Given the description of an element on the screen output the (x, y) to click on. 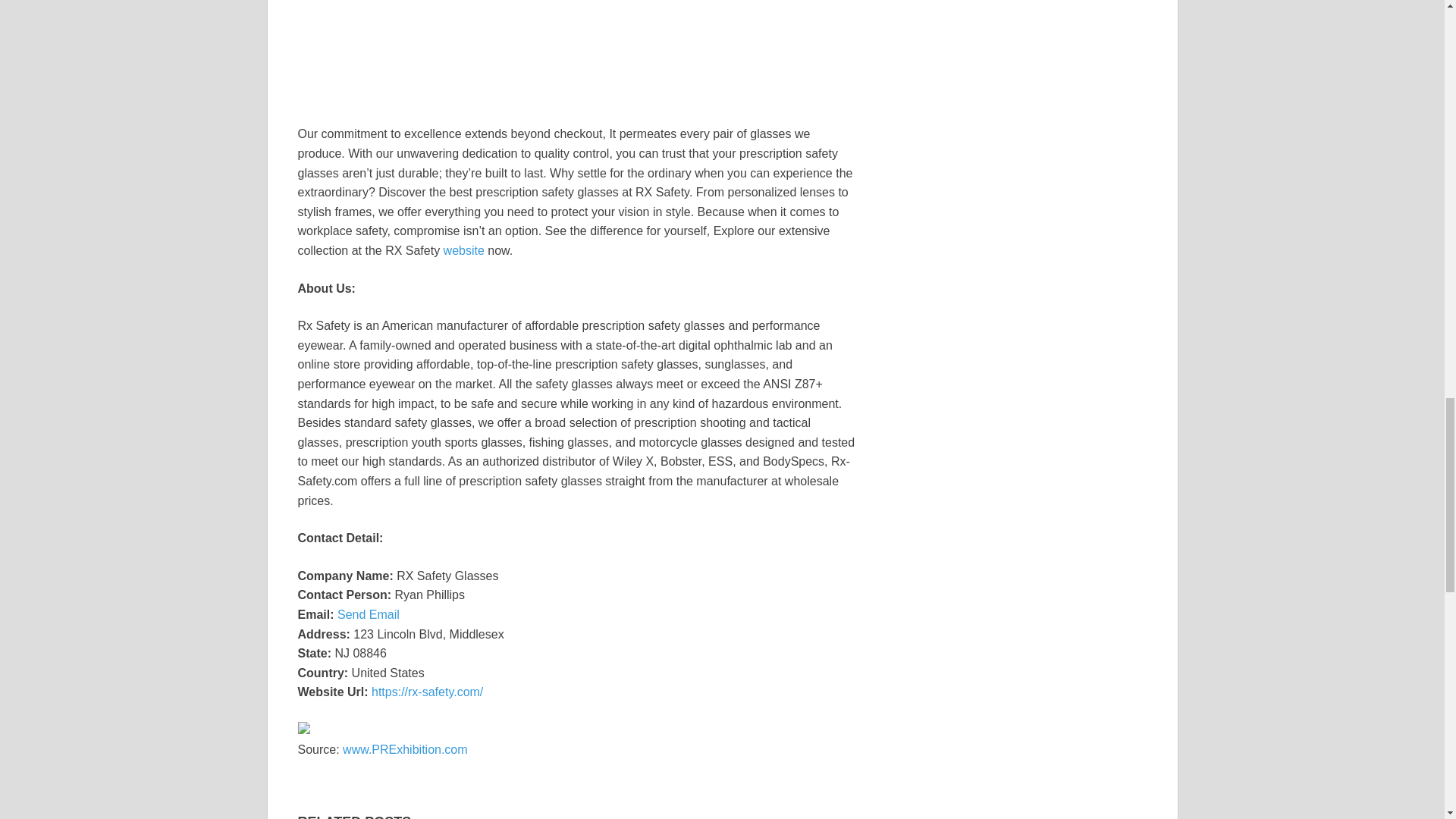
www.PRExhibition.com (404, 748)
website (465, 250)
Send Email (367, 614)
